Given the description of an element on the screen output the (x, y) to click on. 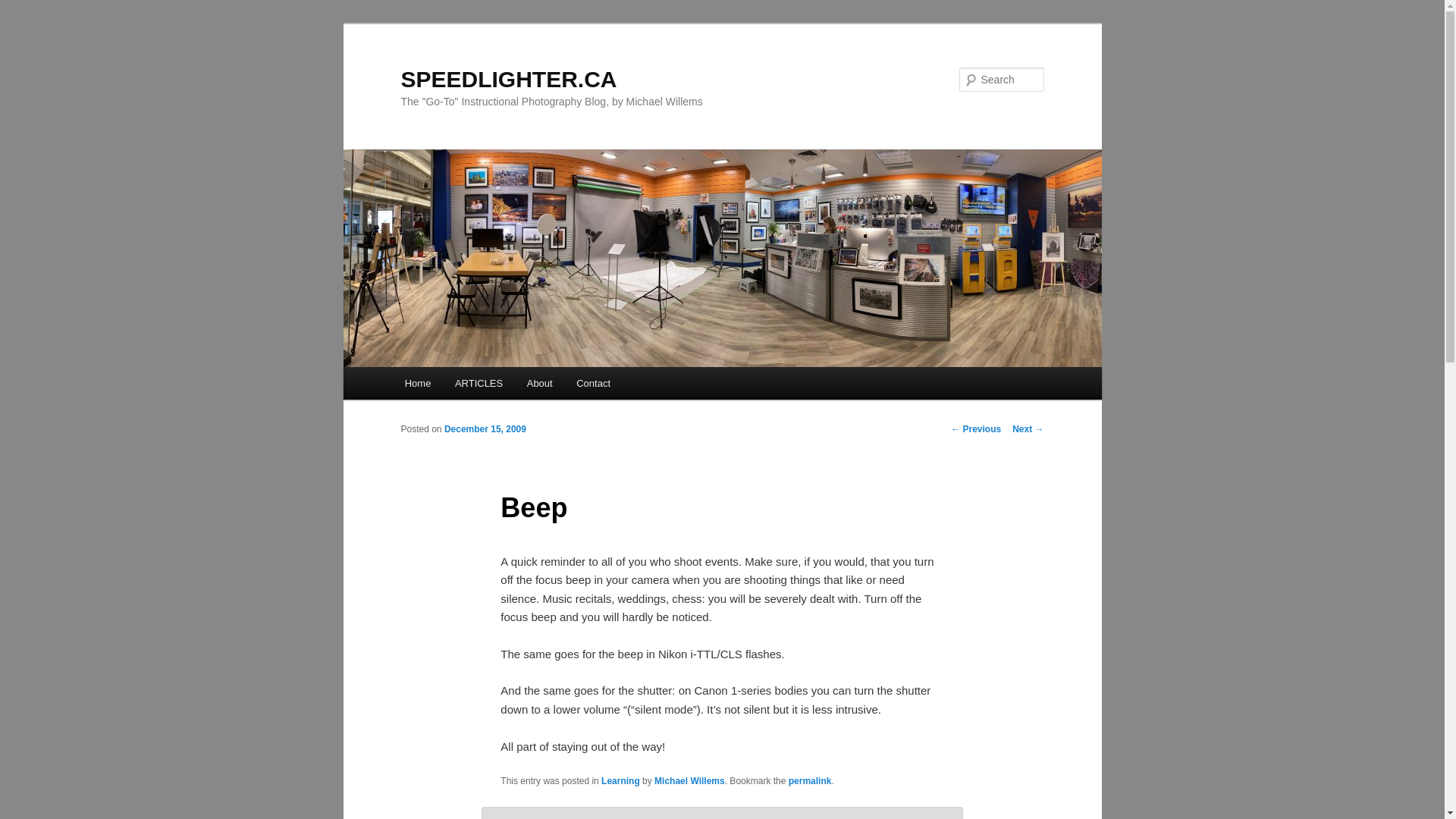
Permalink to Beep (810, 780)
permalink (810, 780)
Learning (620, 780)
Contact (592, 382)
Search (24, 8)
ARTICLES (478, 382)
December 15, 2009 (484, 429)
Michael Willems (689, 780)
Home (417, 382)
01:00 (484, 429)
SPEEDLIGHTER.CA (507, 78)
About (539, 382)
